Given the description of an element on the screen output the (x, y) to click on. 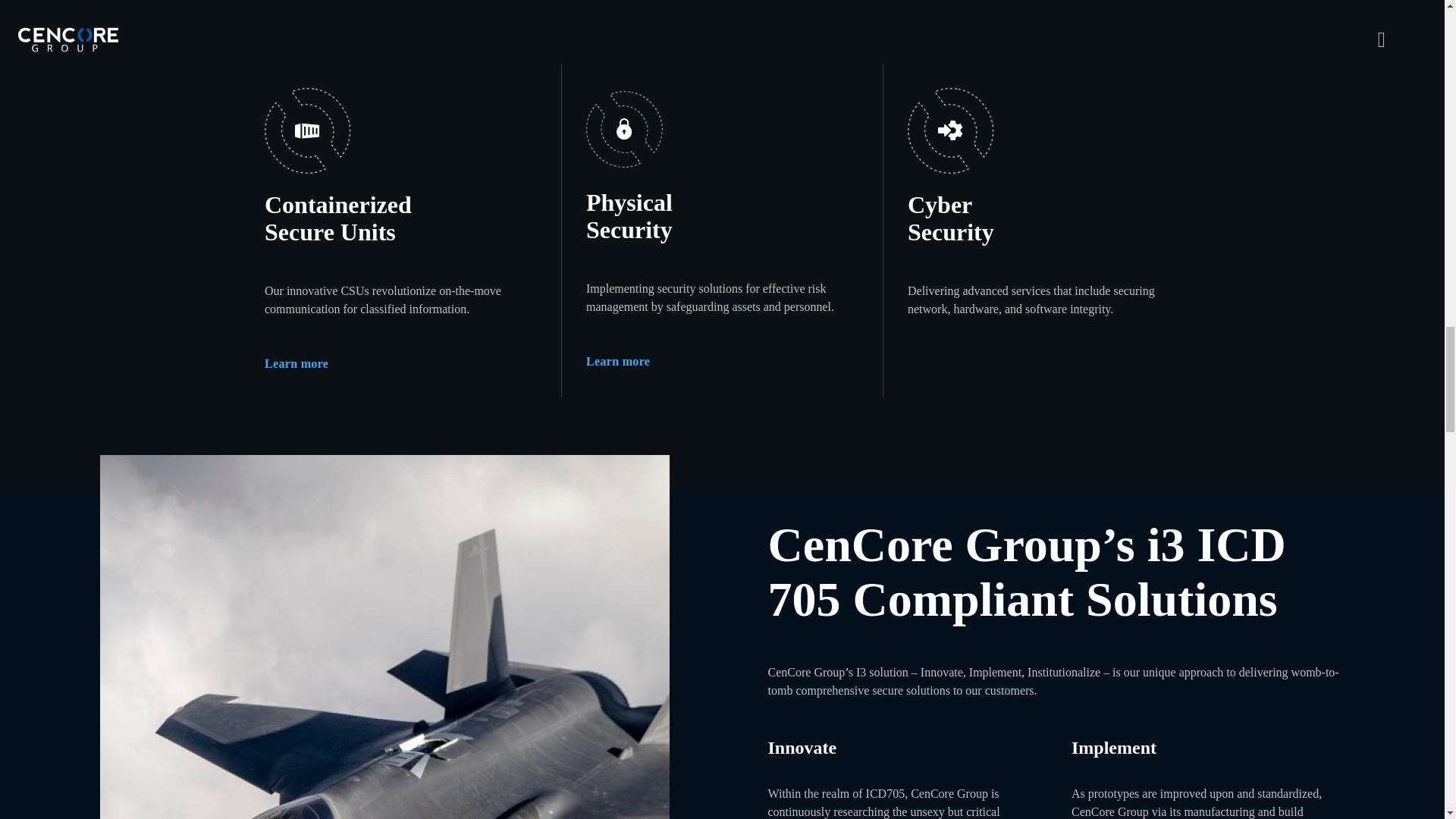
Learn more (296, 363)
Learn more (617, 361)
